Given the description of an element on the screen output the (x, y) to click on. 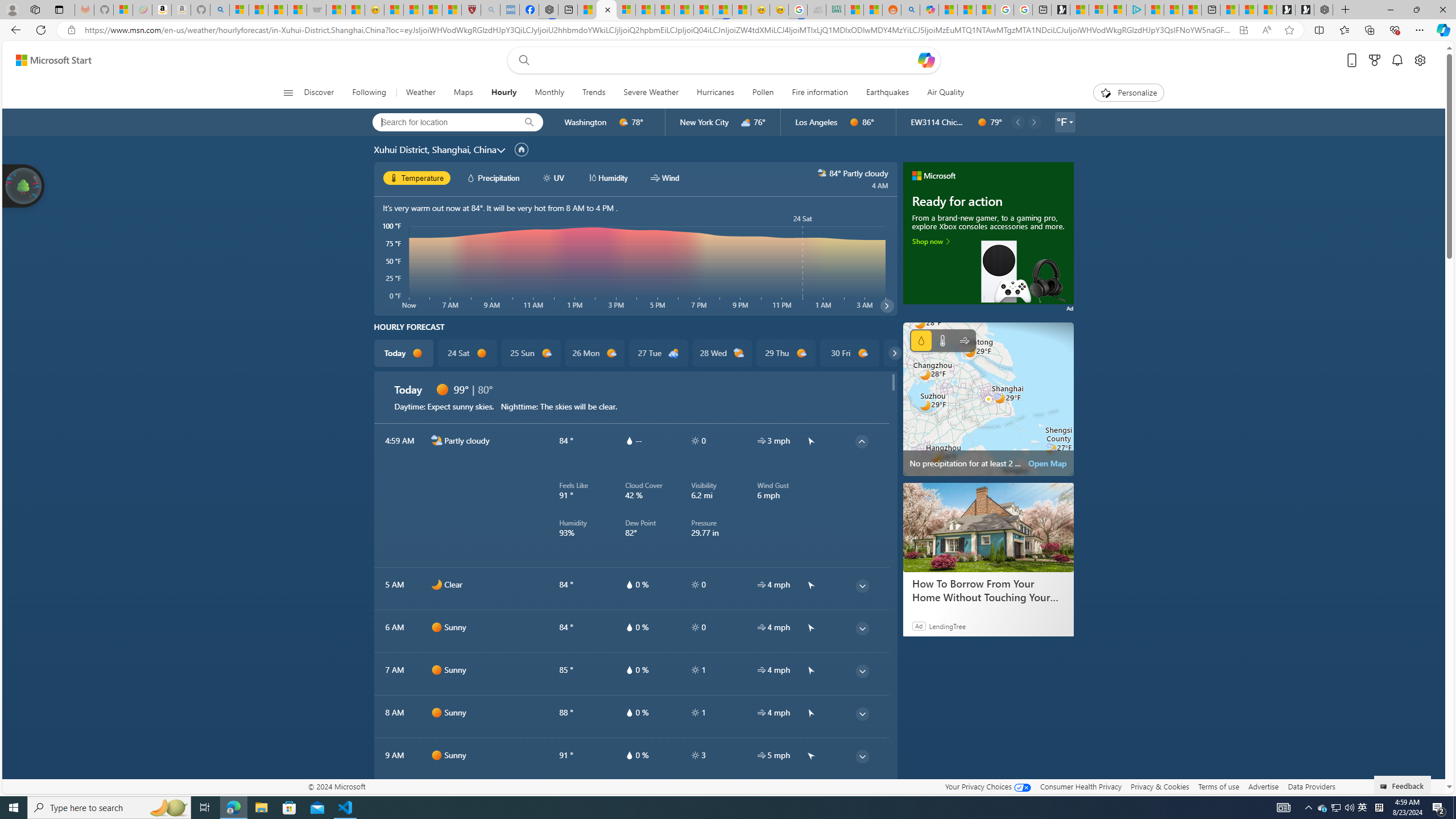
hourlyTable/drop (628, 755)
27 Tue d2200 (658, 352)
d2200 (673, 353)
common/carouselChevron (895, 353)
d2000 (738, 353)
Trends (593, 92)
